Given the description of an element on the screen output the (x, y) to click on. 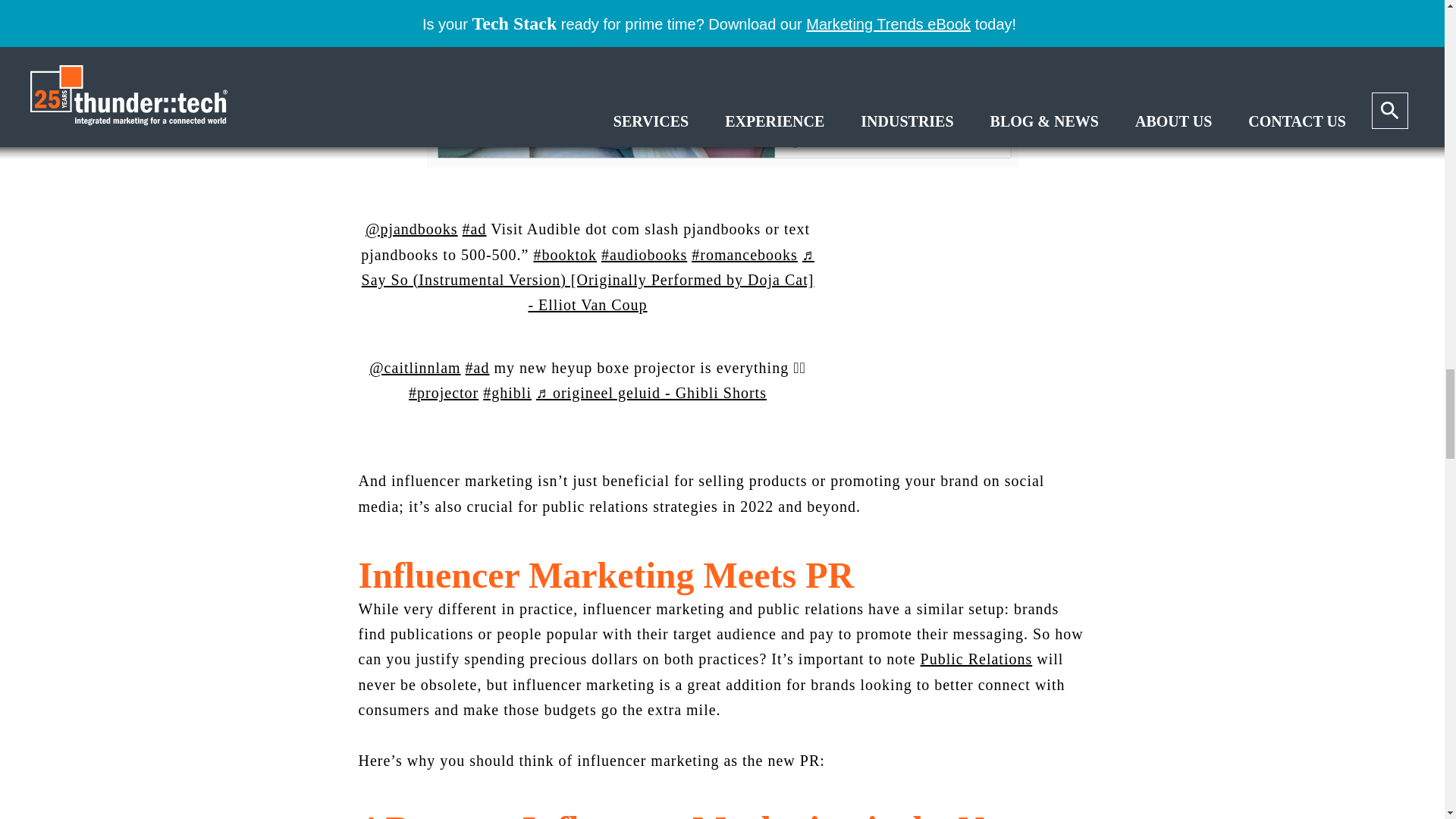
ad (477, 367)
ghibli (507, 392)
ad (474, 228)
Public Relations (976, 658)
projector (444, 392)
romancebooks (744, 254)
booktok (564, 254)
audiobooks (644, 254)
